Given the description of an element on the screen output the (x, y) to click on. 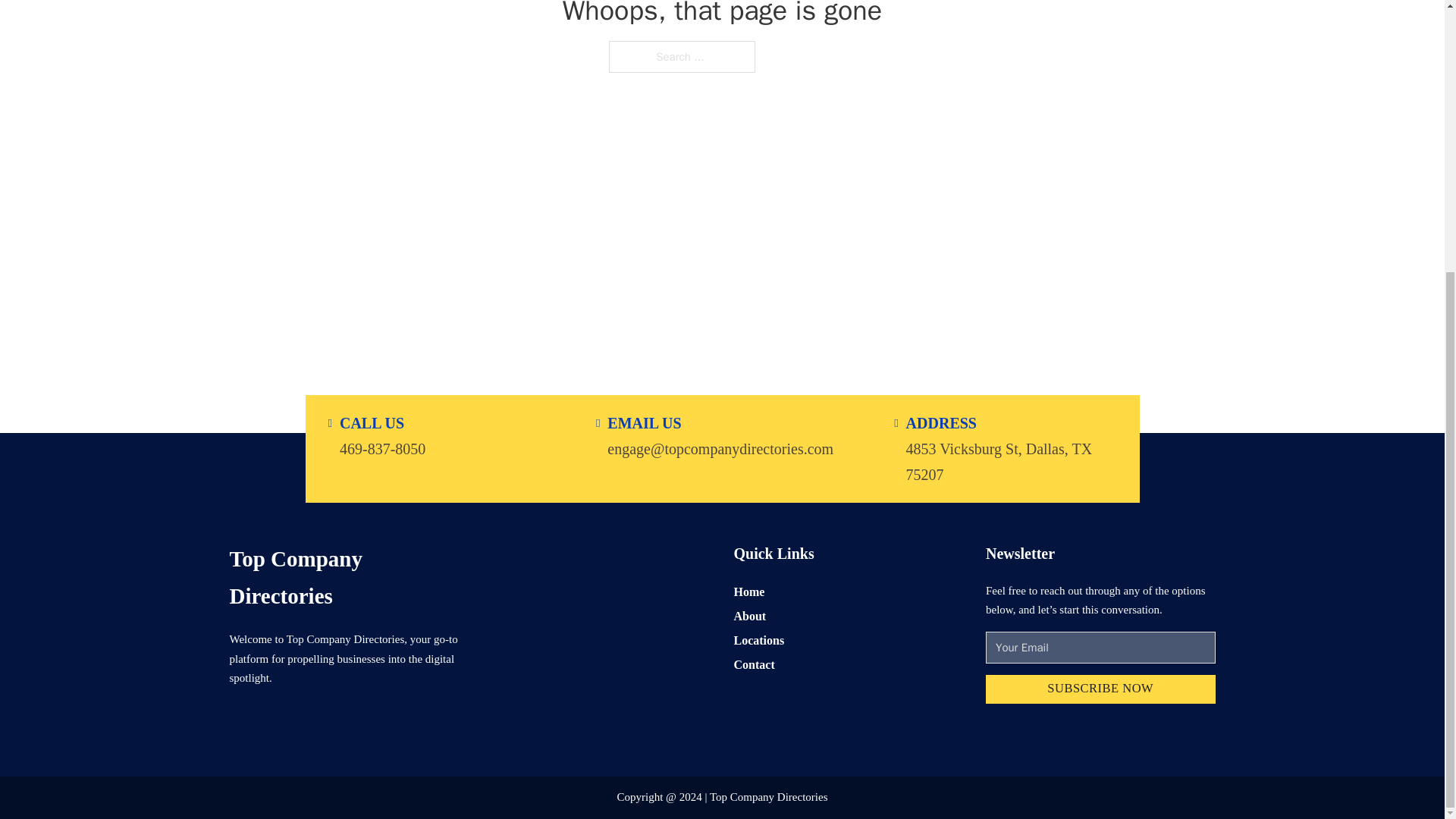
469-837-8050 (382, 447)
About (750, 616)
Top Company Directories (343, 577)
SUBSCRIBE NOW (1100, 689)
Contact (753, 664)
Home (749, 590)
Locations (758, 639)
